Given the description of an element on the screen output the (x, y) to click on. 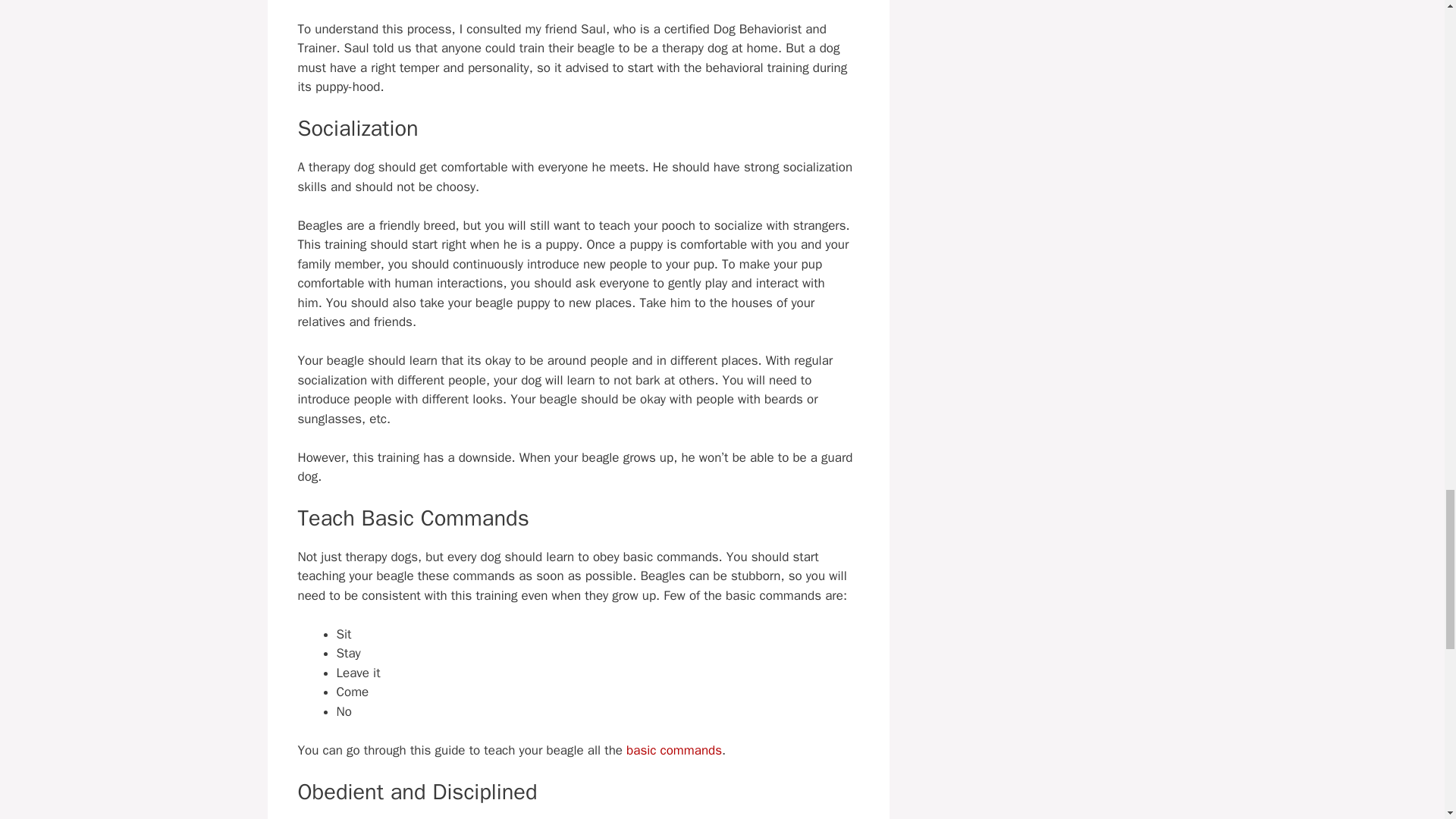
basic commands (674, 750)
